Given the description of an element on the screen output the (x, y) to click on. 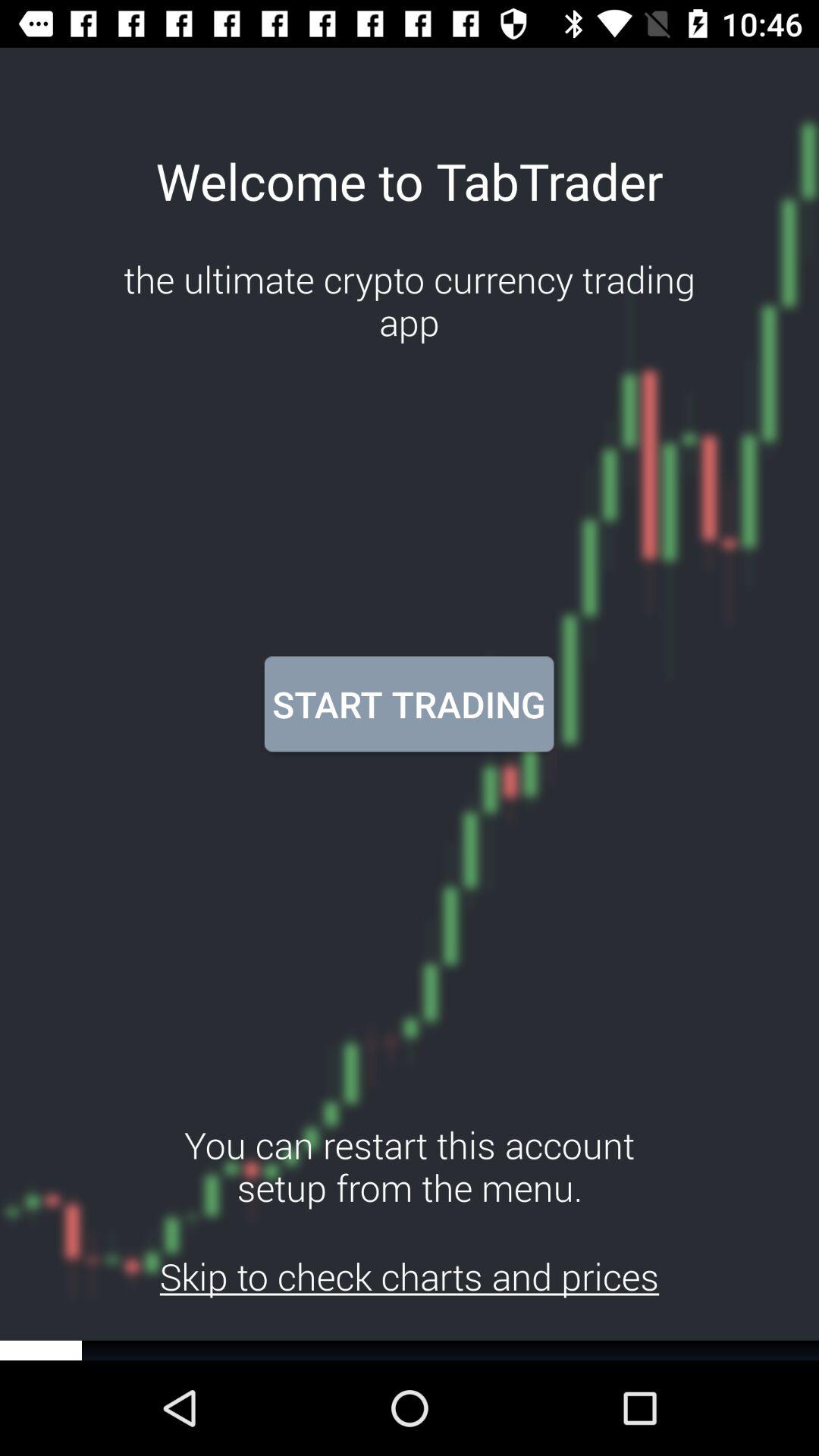
open start trading (408, 703)
